Given the description of an element on the screen output the (x, y) to click on. 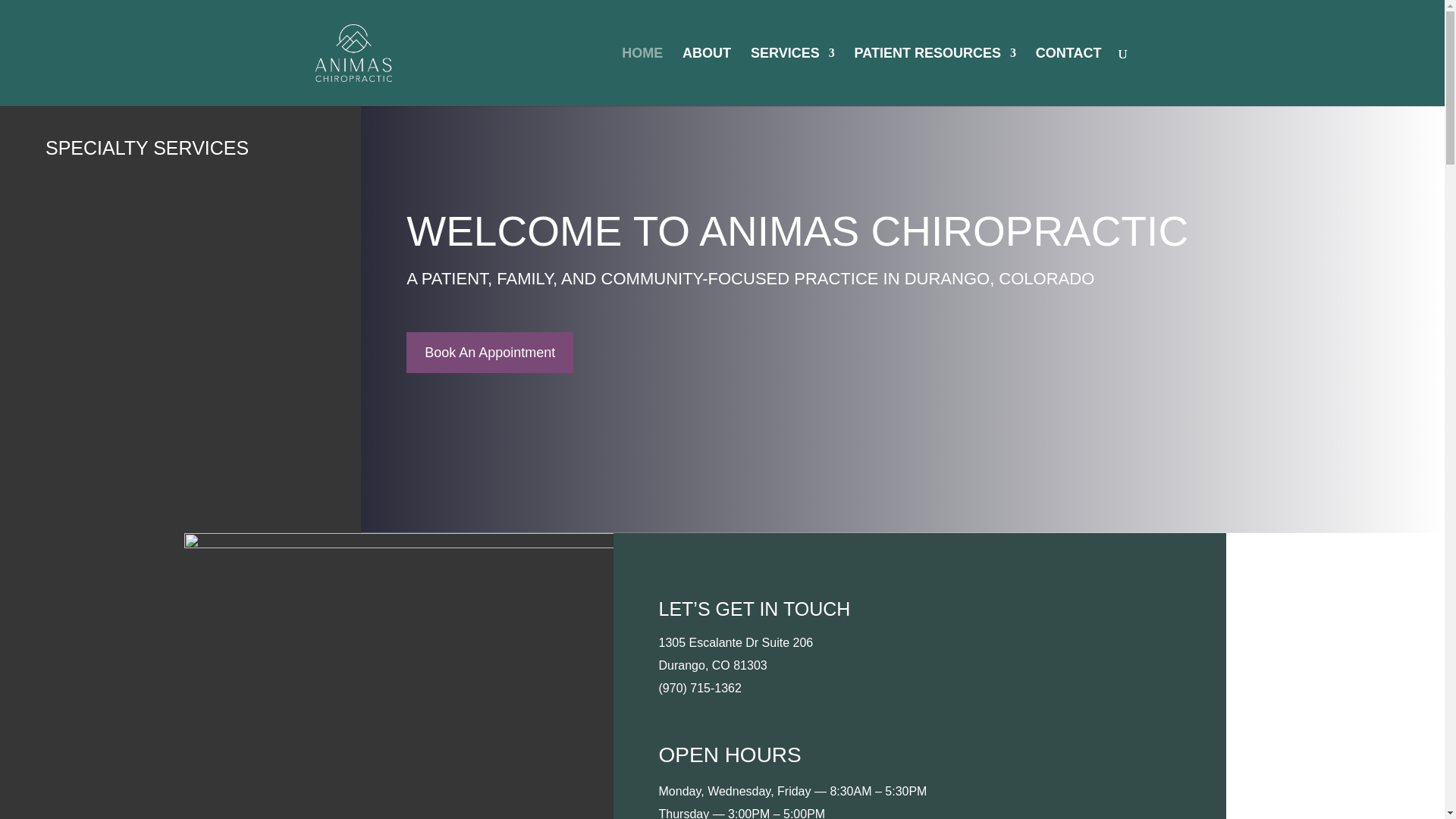
CONTACT (1068, 76)
Animas Chiropractic (398, 676)
SERVICES (792, 76)
Book An Appointment (489, 352)
PATIENT RESOURCES (935, 76)
